Given the description of an element on the screen output the (x, y) to click on. 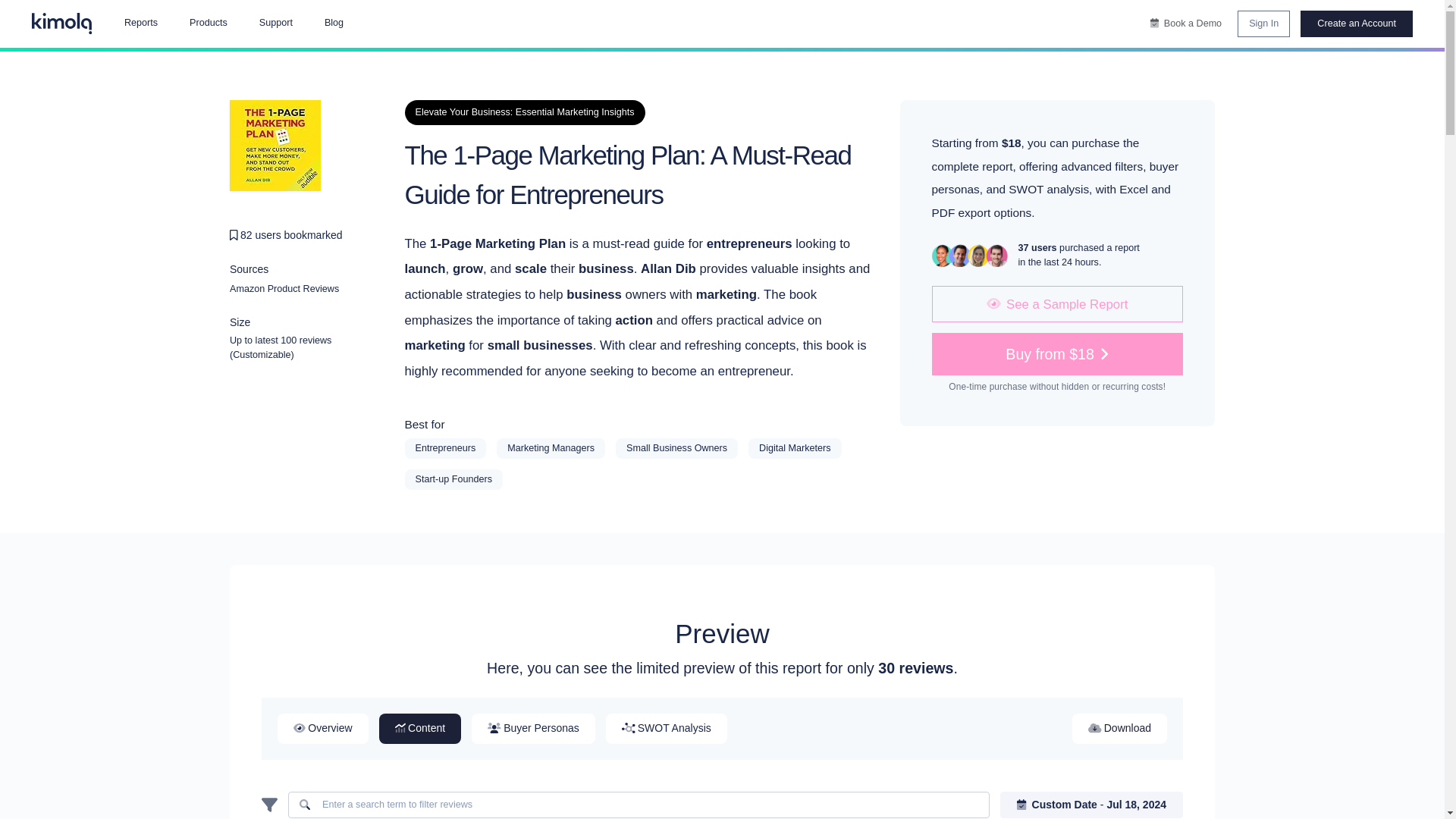
Reports (140, 23)
Kimola (62, 23)
Reports (140, 23)
Products (208, 23)
